Given the description of an element on the screen output the (x, y) to click on. 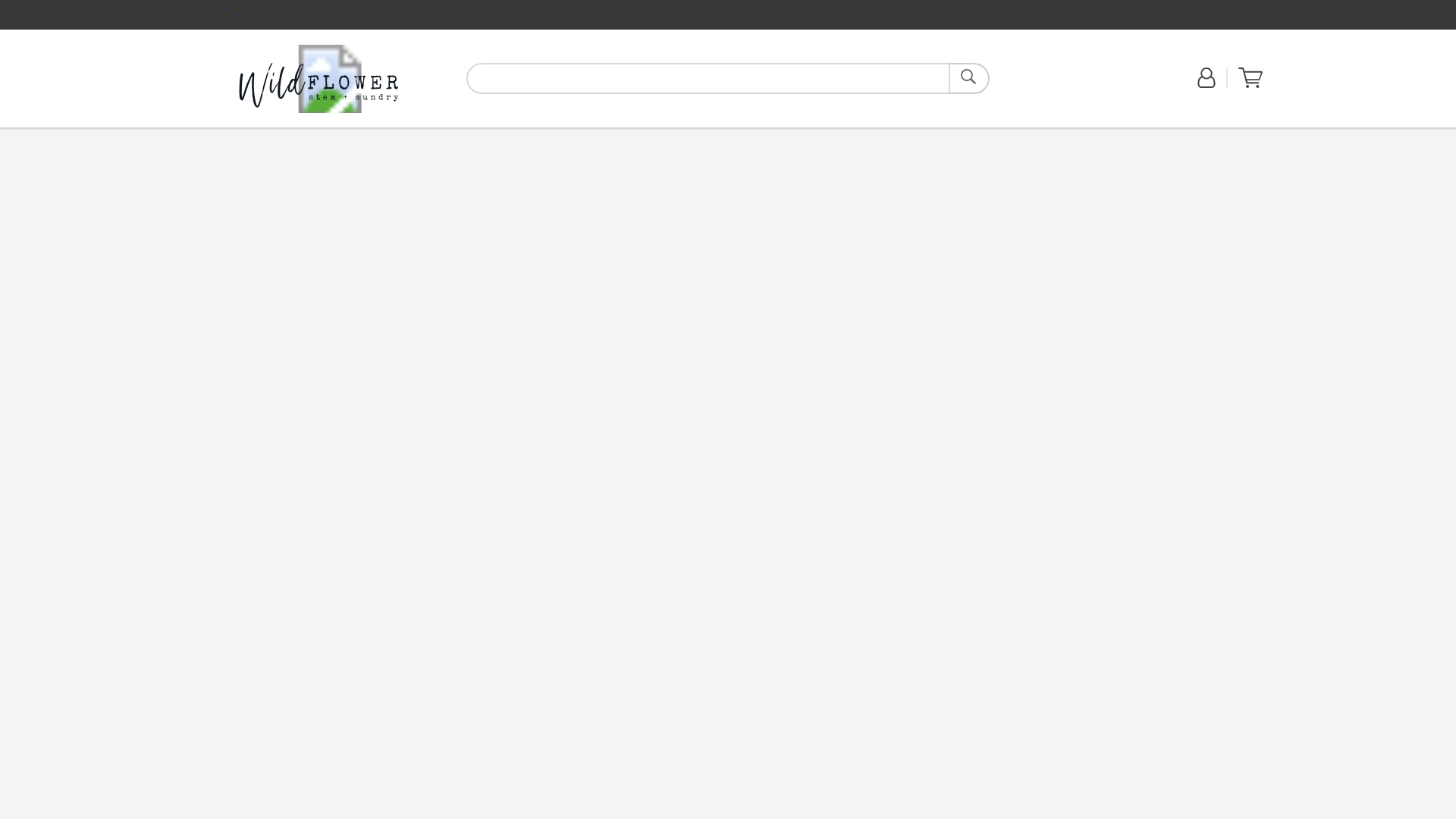
View Your Shopping Cart (1250, 77)
Search (969, 78)
Occasions (445, 136)
Sympathy (395, 136)
Set ZIP Code (1044, 86)
View Your Shopping Cart (1250, 84)
Birthday (295, 135)
Back to the Home Page (318, 78)
Just Because (343, 135)
